Given the description of an element on the screen output the (x, y) to click on. 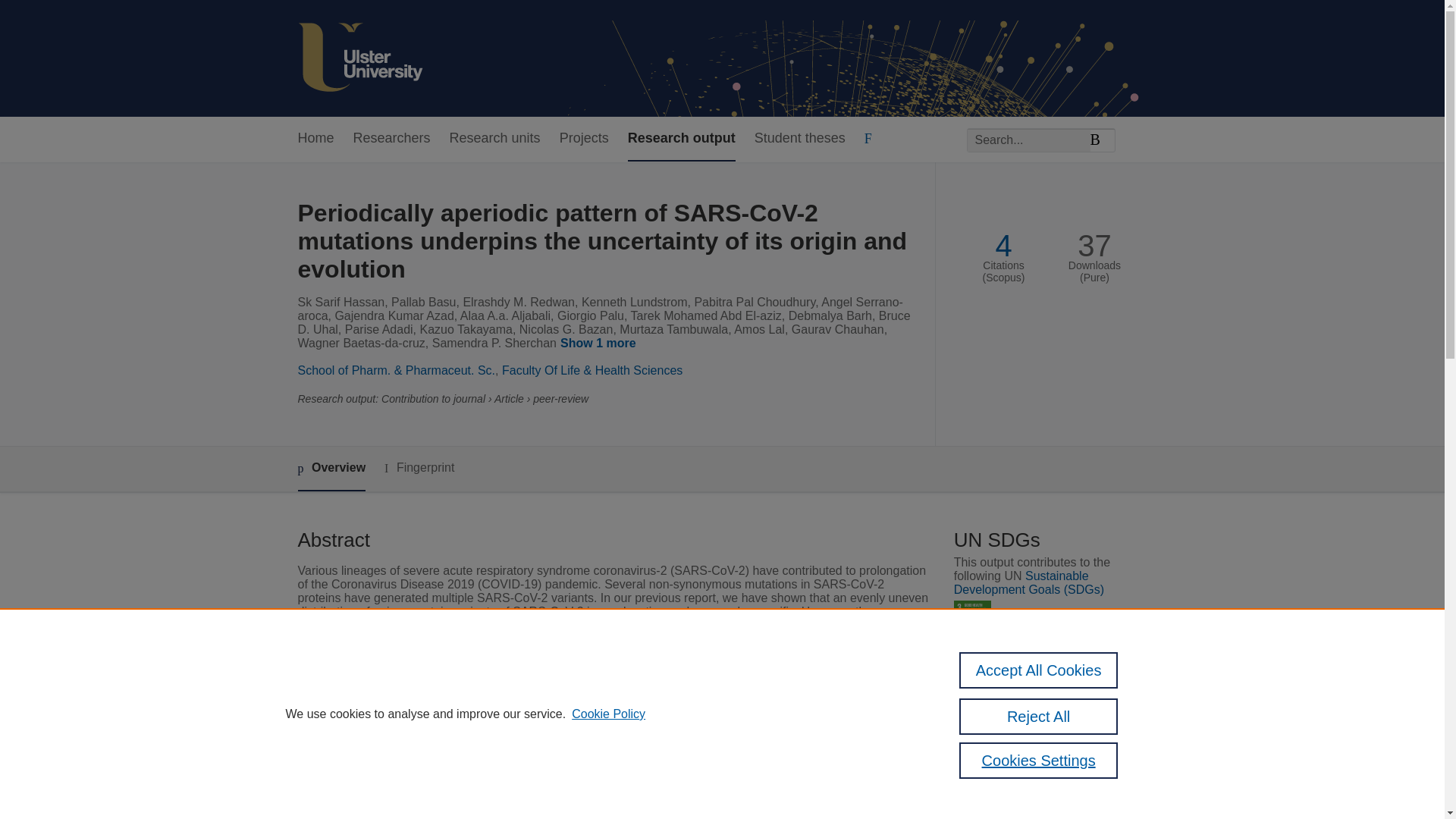
ER Revised Article - Marked Copy (1042, 723)
Overview (331, 468)
Student theses (799, 139)
Projects (583, 139)
Fingerprint (419, 467)
Research units (494, 139)
Show 1 more (600, 344)
SDG 3 - Good Health and Well-being (972, 619)
Ulster University Home (359, 58)
Researchers (391, 139)
Research output (681, 139)
